Given the description of an element on the screen output the (x, y) to click on. 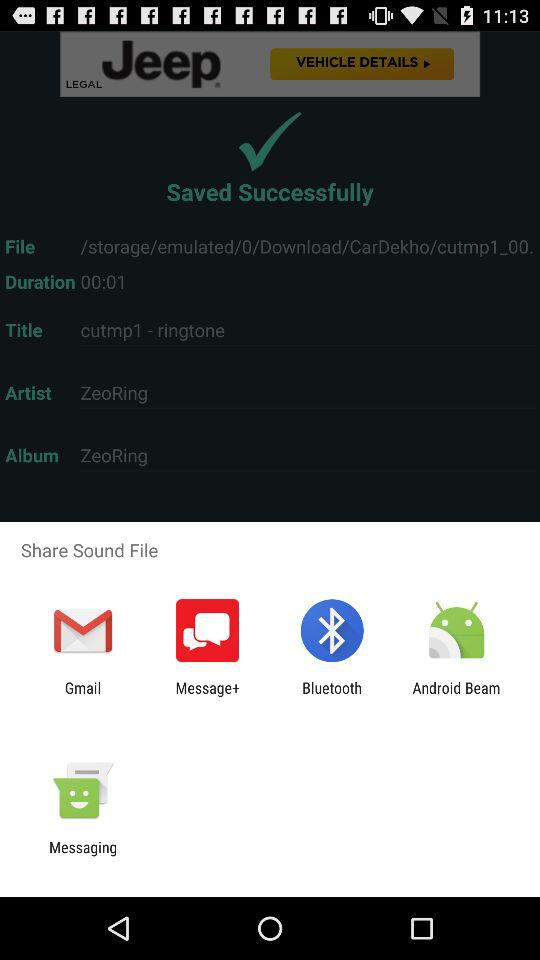
press the item to the right of bluetooth icon (456, 696)
